Given the description of an element on the screen output the (x, y) to click on. 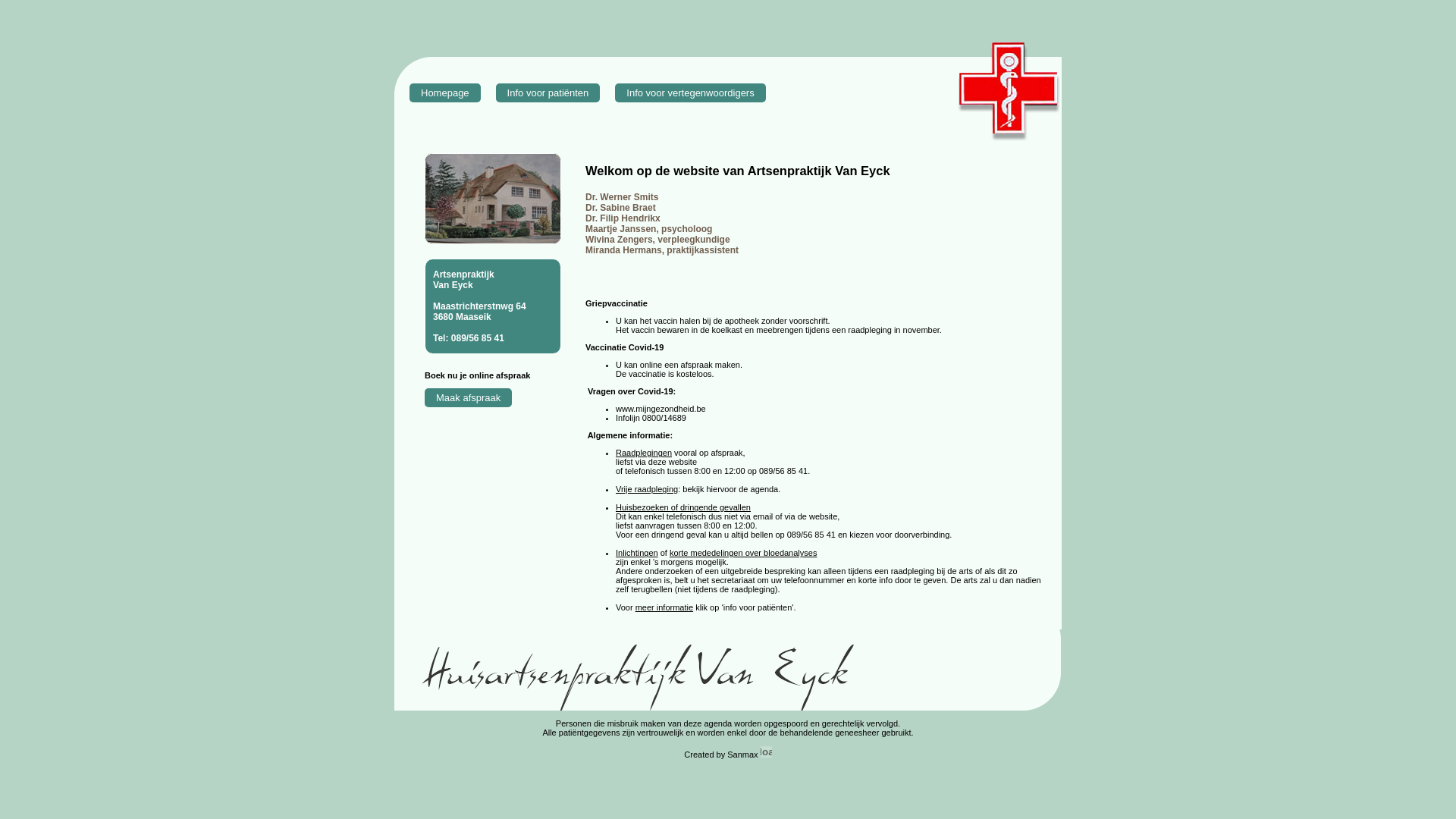
Maak afspraak Element type: text (467, 397)
Info voor vertegenwoordigers Element type: text (690, 92)
Homepage Element type: text (444, 92)
